Given the description of an element on the screen output the (x, y) to click on. 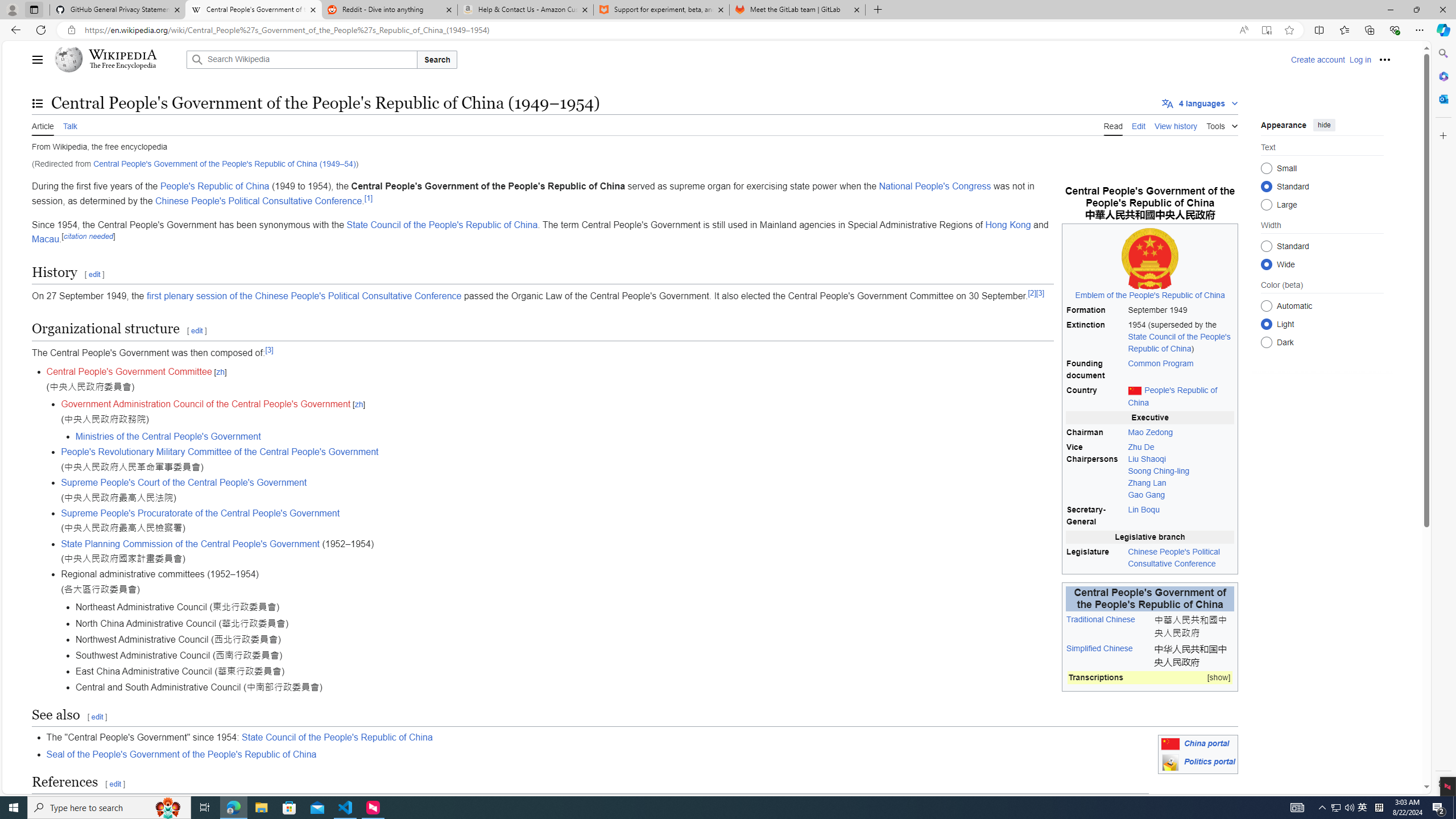
Toggle the table of contents (37, 103)
Edit (1138, 124)
Zhu De Liu Shaoqi Soong Ching-ling Zhang Lan Gao Gang (1180, 471)
[1] (368, 197)
edit (115, 783)
Founding document (1095, 369)
Macau (45, 239)
Vice Chairpersons (1095, 471)
